Given the description of an element on the screen output the (x, y) to click on. 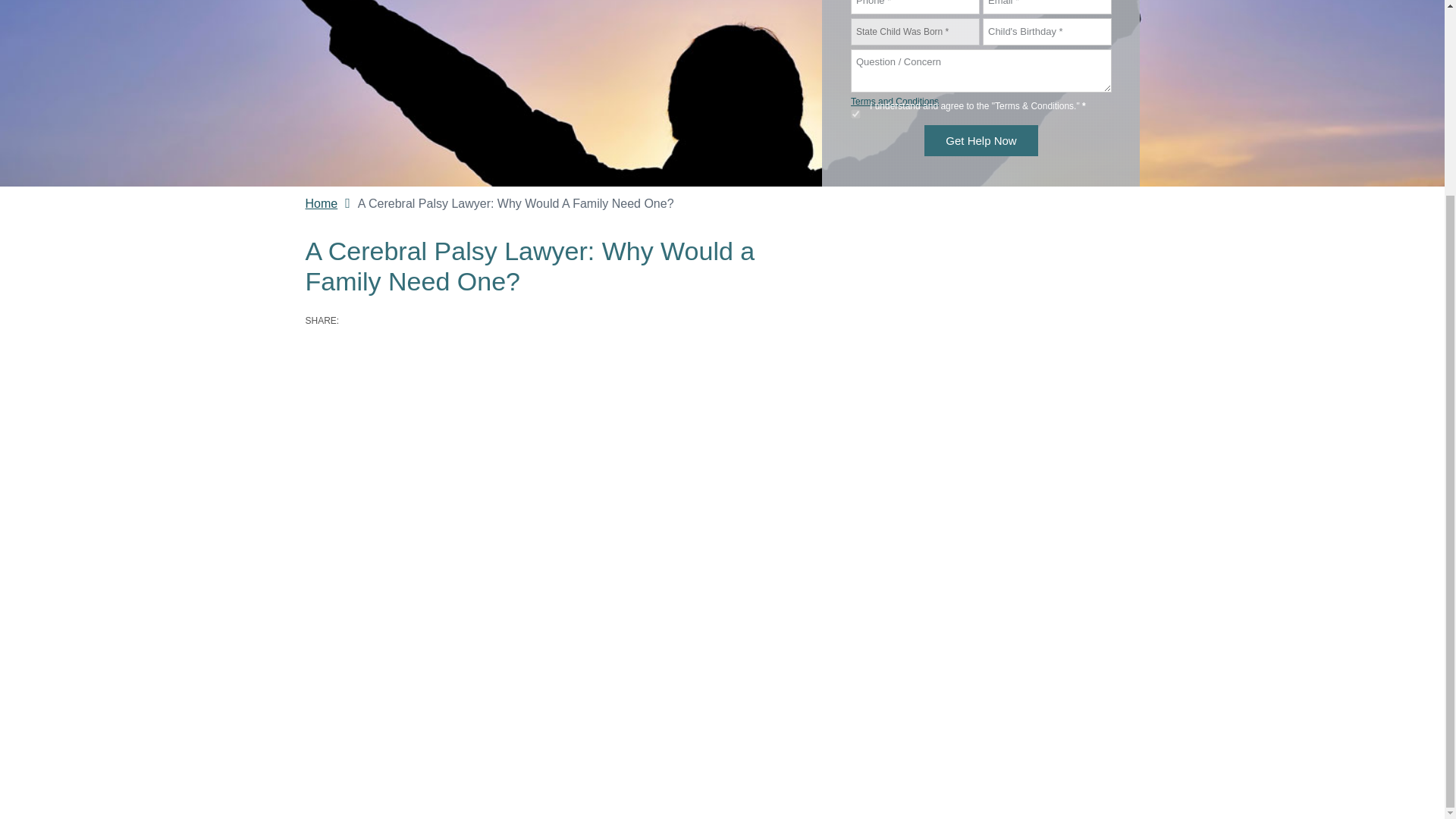
Agree (855, 113)
Get Help Now (981, 140)
